Given the description of an element on the screen output the (x, y) to click on. 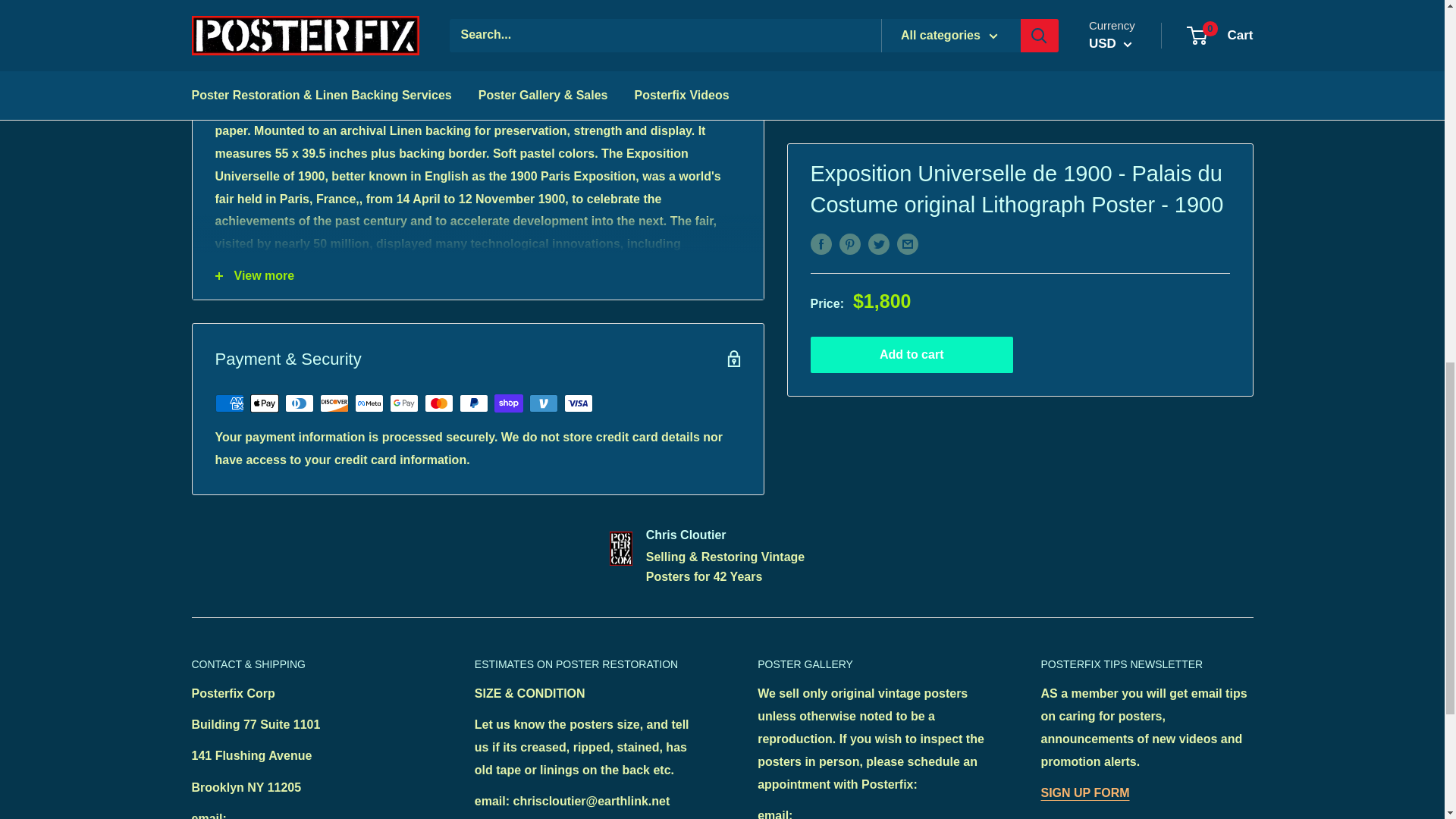
Sound film (456, 277)
Escalator (280, 288)
Ferris wheel (402, 266)
Diesel engine (610, 266)
Pont Alexandre III (298, 266)
